Given the description of an element on the screen output the (x, y) to click on. 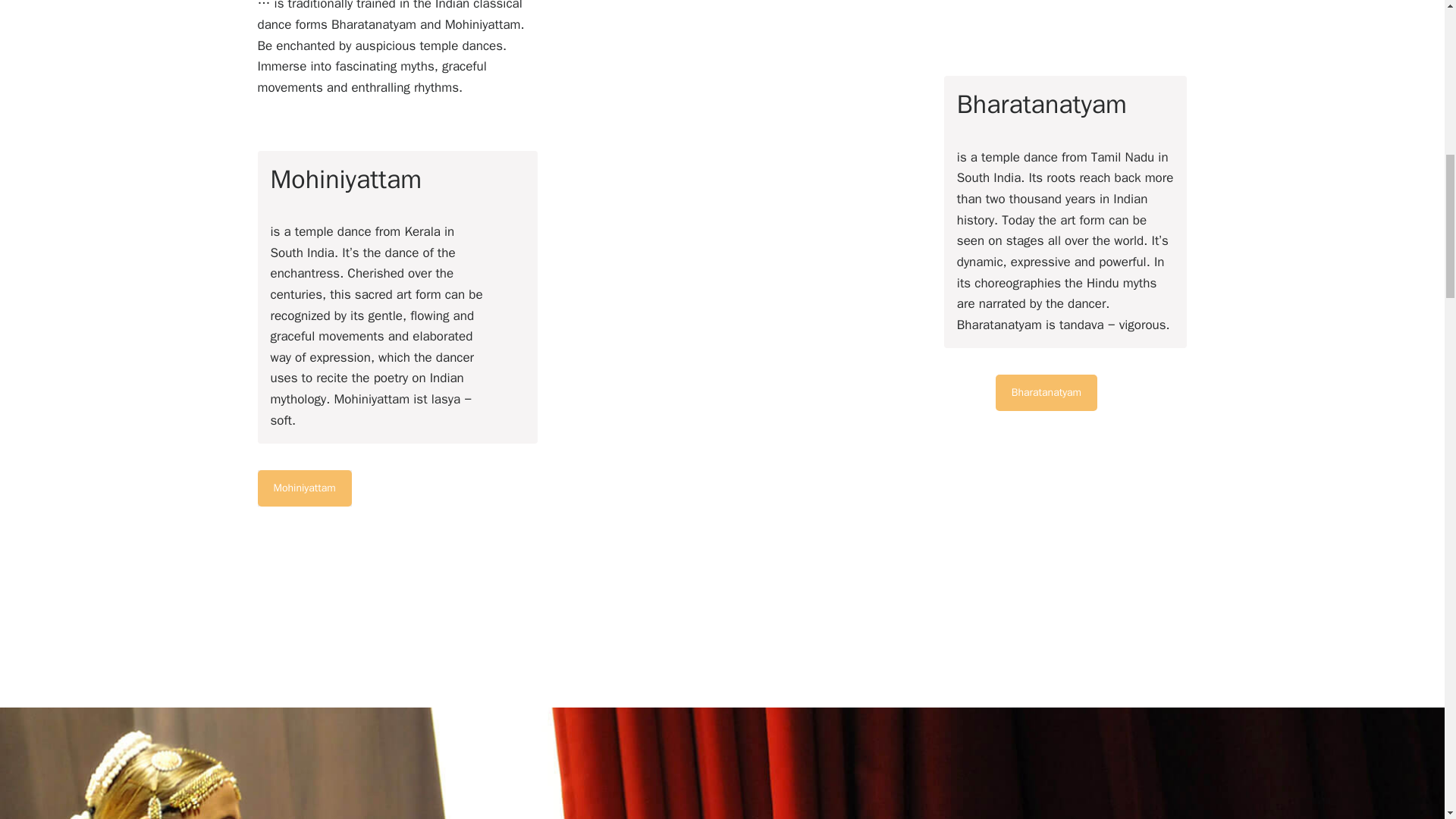
Bharatanatyam (1046, 392)
Mohiniyattam (304, 488)
Mohiniattam (304, 488)
Bharatanatyam (1046, 392)
